Given the description of an element on the screen output the (x, y) to click on. 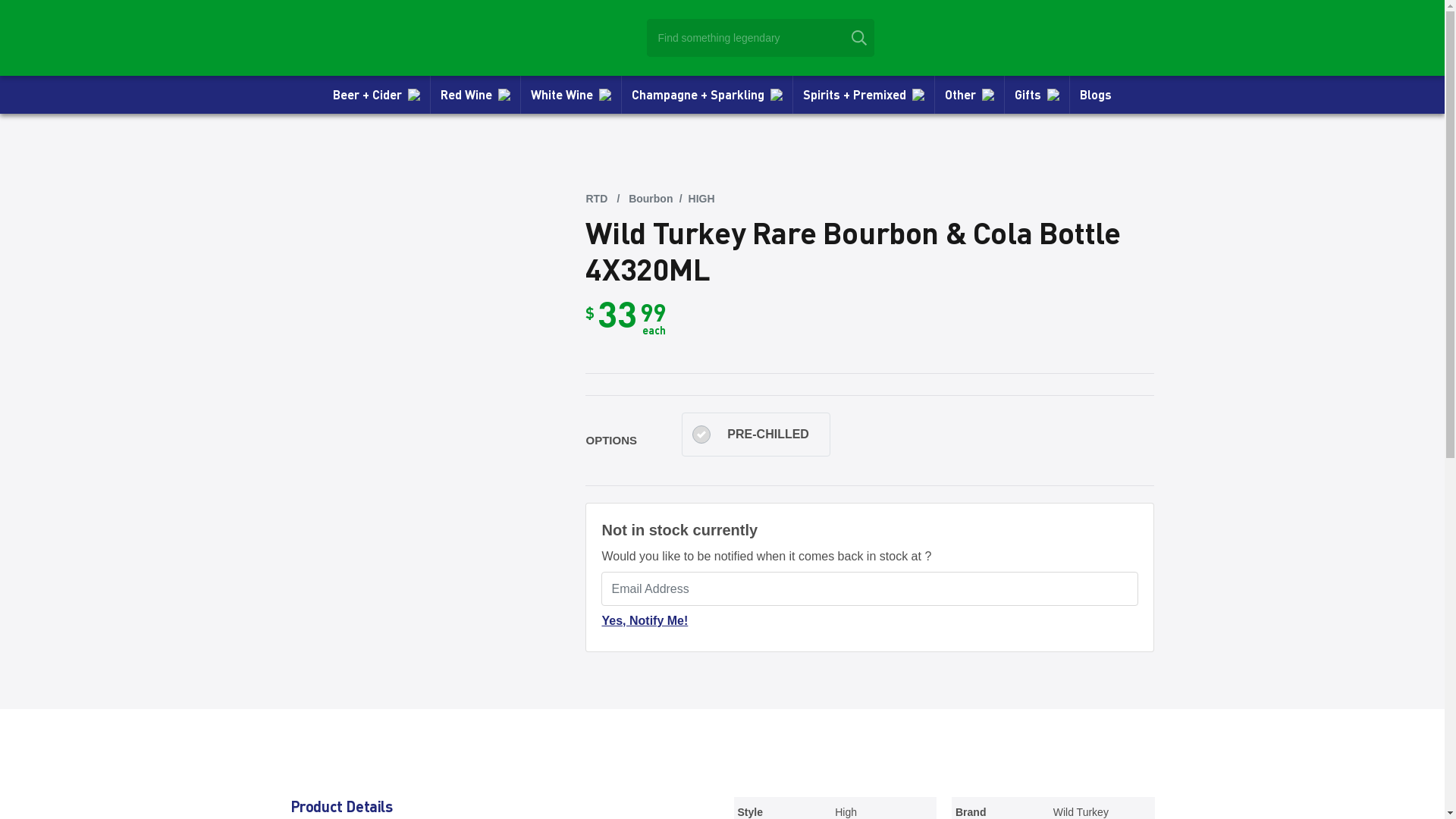
Beer + Cider   Element type: text (376, 94)
RTD Element type: text (596, 198)
Champagne + Sparkling   Element type: text (706, 94)
Other   Element type: text (969, 94)
White Wine   Element type: text (570, 94)
Bourbon Element type: text (650, 198)
Yes, Notify Me! Element type: text (644, 620)
Gifts   Element type: text (1036, 94)
Red Wine   Element type: text (475, 94)
Spirits + Premixed   Element type: text (863, 94)
Blogs Element type: text (1095, 94)
HIGH Element type: text (701, 198)
